Given the description of an element on the screen output the (x, y) to click on. 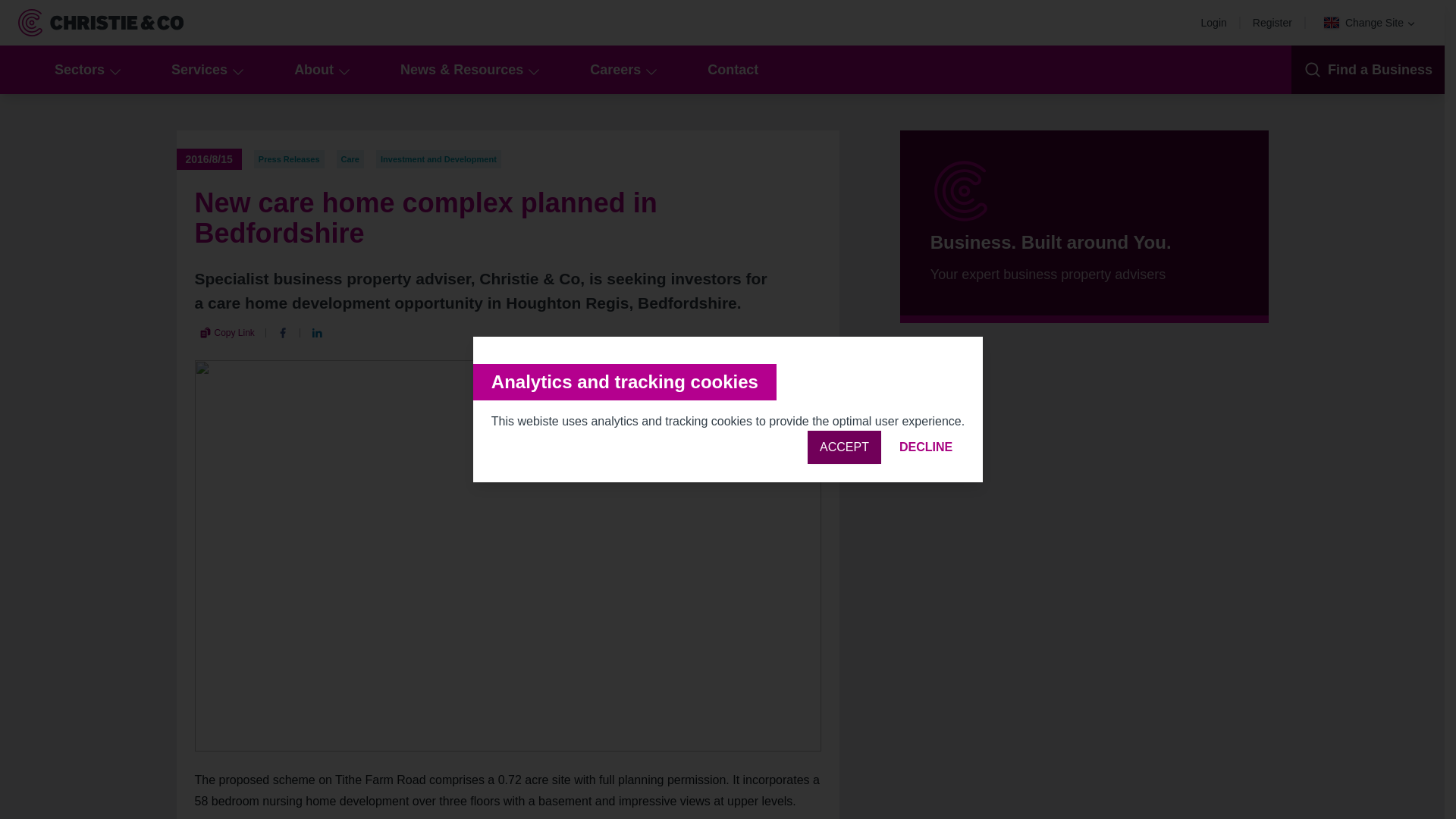
Login (1217, 22)
Services (204, 69)
Share on LinkedIn (316, 332)
Change Site (1369, 22)
Copy Link (226, 332)
Register (1276, 22)
Contact (732, 70)
Careers (621, 69)
About (320, 69)
Share on Facebook (283, 332)
Sectors (85, 69)
